Given the description of an element on the screen output the (x, y) to click on. 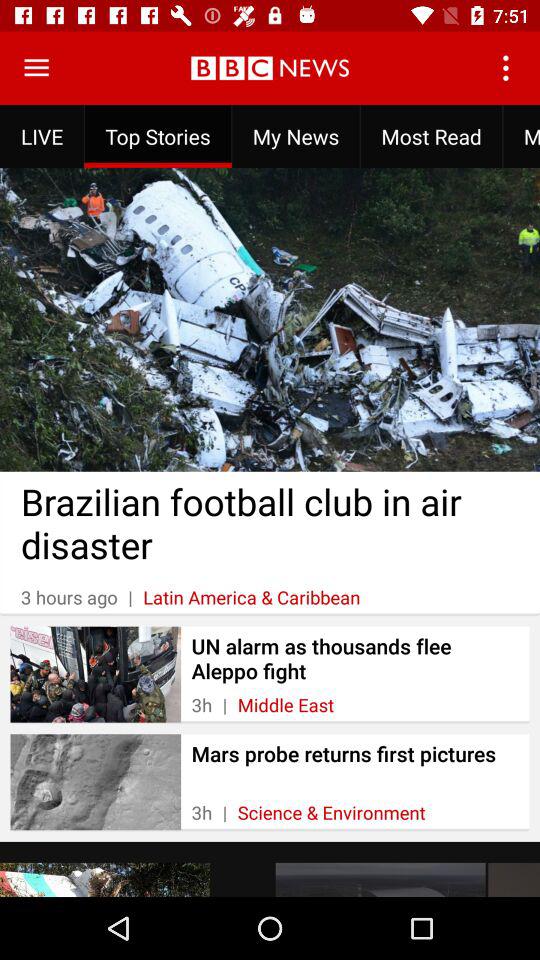
choose the science & environment item (331, 812)
